Given the description of an element on the screen output the (x, y) to click on. 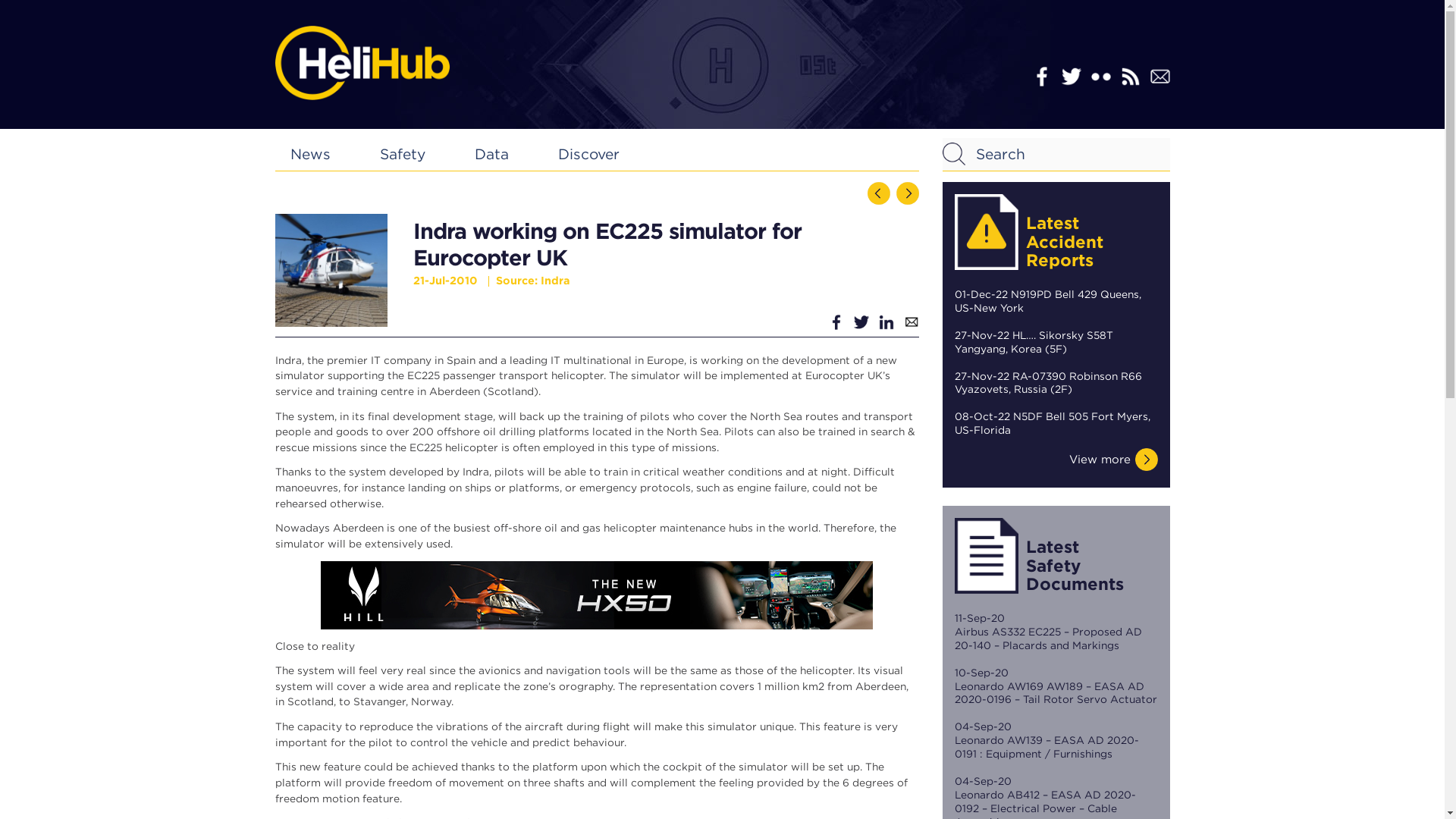
Twitter (1071, 76)
HeliHub.com (361, 62)
Indra working on EC225 simulator for Eurocopter UK (331, 269)
Subscribe (1159, 76)
News (310, 154)
Flickr (1099, 76)
Facebook (1040, 76)
Safety (401, 154)
Data (492, 154)
Discover (588, 154)
RSS (1130, 76)
